Given the description of an element on the screen output the (x, y) to click on. 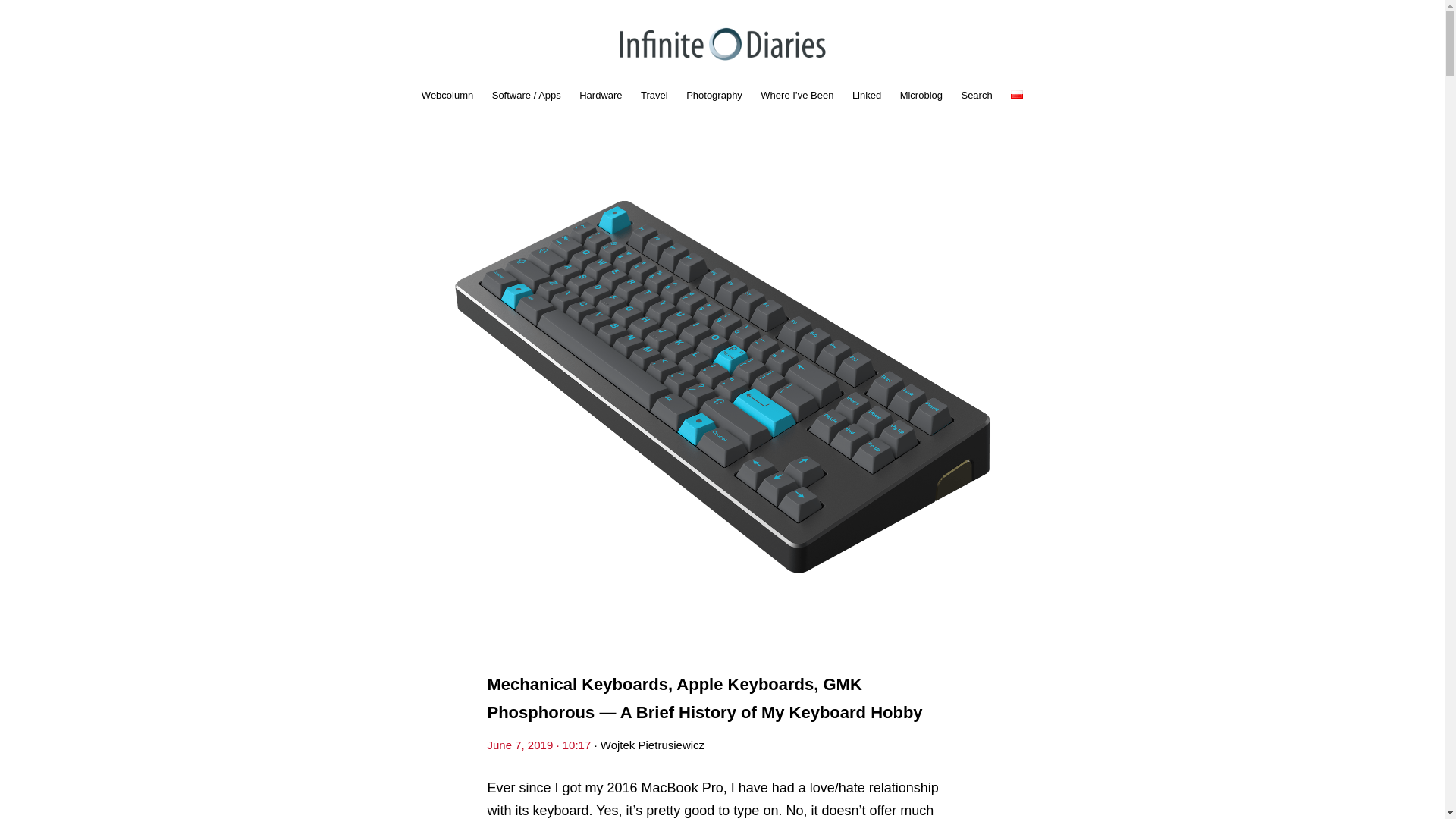
Travel (654, 94)
Microblog (921, 94)
Linked (866, 94)
Photography (713, 94)
Search (975, 94)
Webcolumn (446, 94)
Hardware (600, 94)
